Given the description of an element on the screen output the (x, y) to click on. 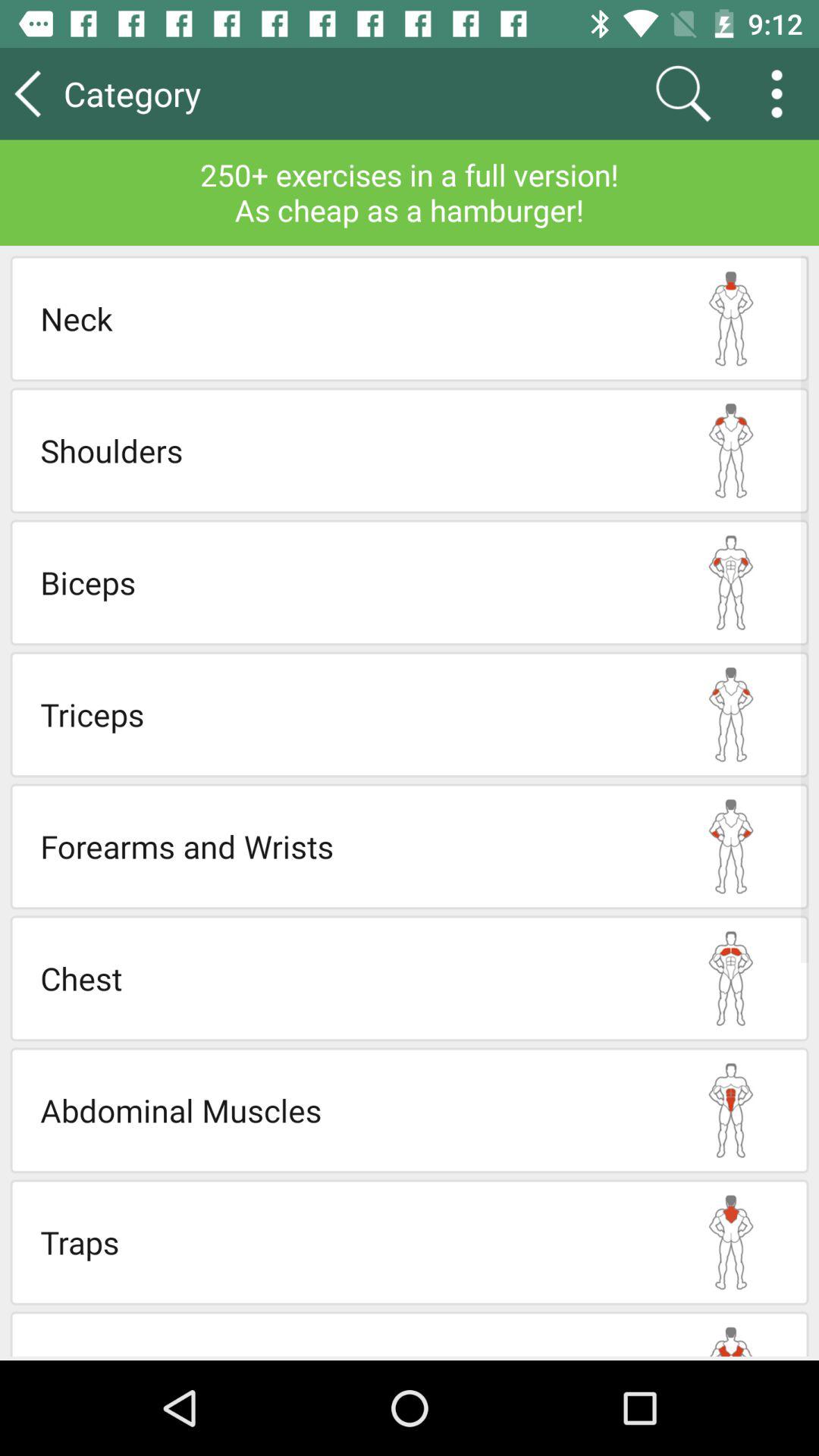
select the lats item (346, 1349)
